Given the description of an element on the screen output the (x, y) to click on. 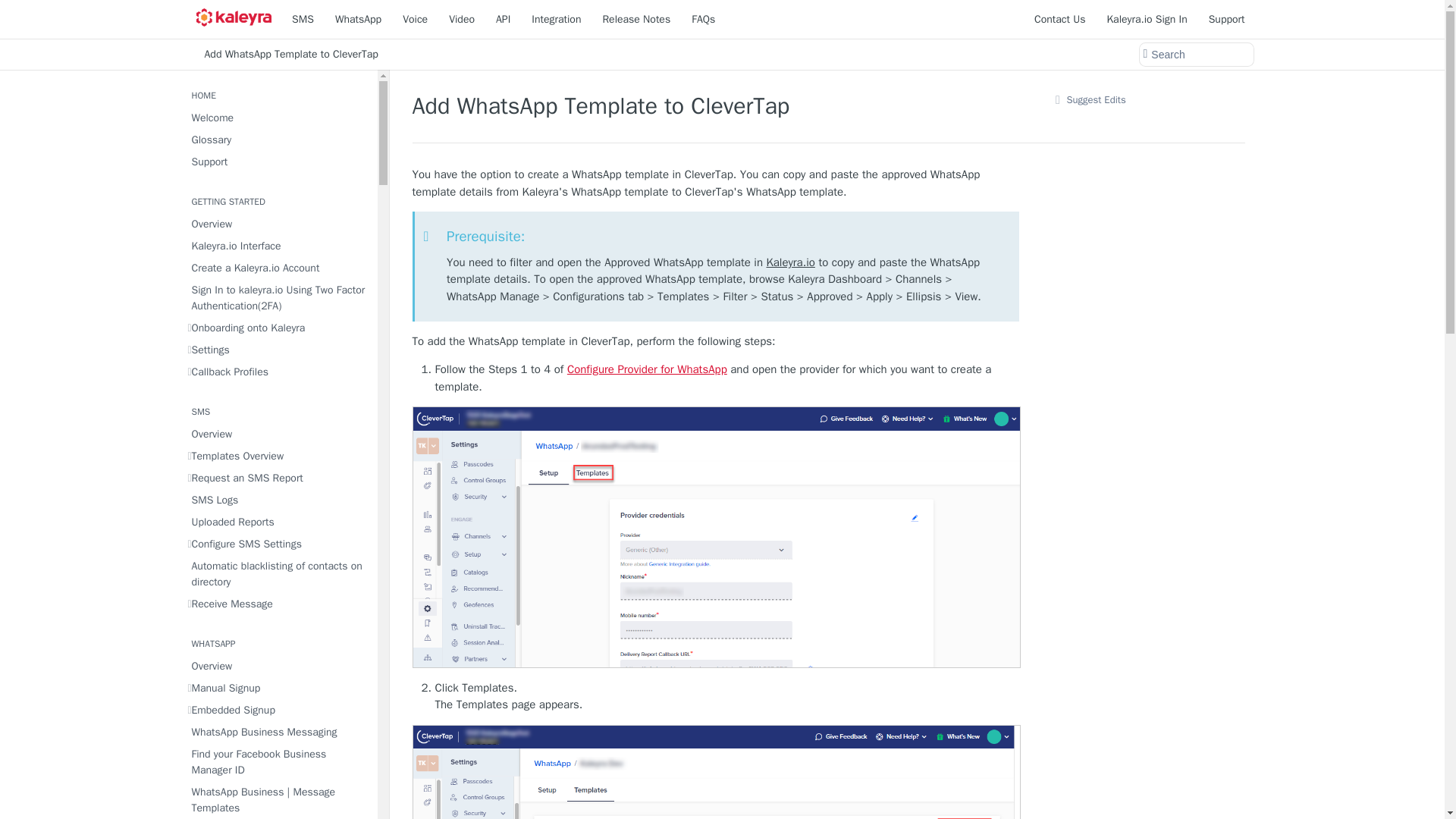
Glossary (277, 139)
Kaleyra.io Sign In (1146, 18)
Support (1226, 18)
SMS (302, 18)
FAQs (702, 18)
Onboarding onto Kaleyra (277, 327)
Release Notes (636, 18)
Welcome (277, 117)
Overview (277, 223)
Support (277, 161)
